Given the description of an element on the screen output the (x, y) to click on. 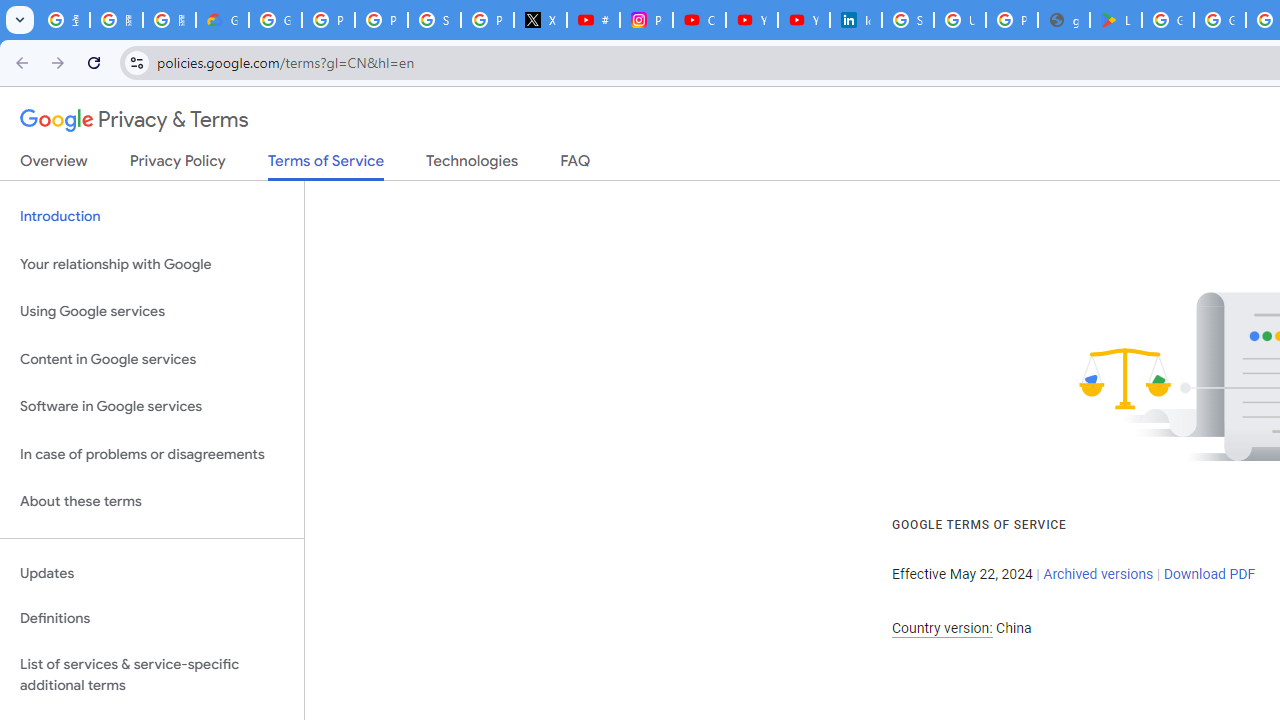
Country version: (942, 628)
Your relationship with Google (152, 263)
Using Google services (152, 312)
Definitions (152, 619)
